Given the description of an element on the screen output the (x, y) to click on. 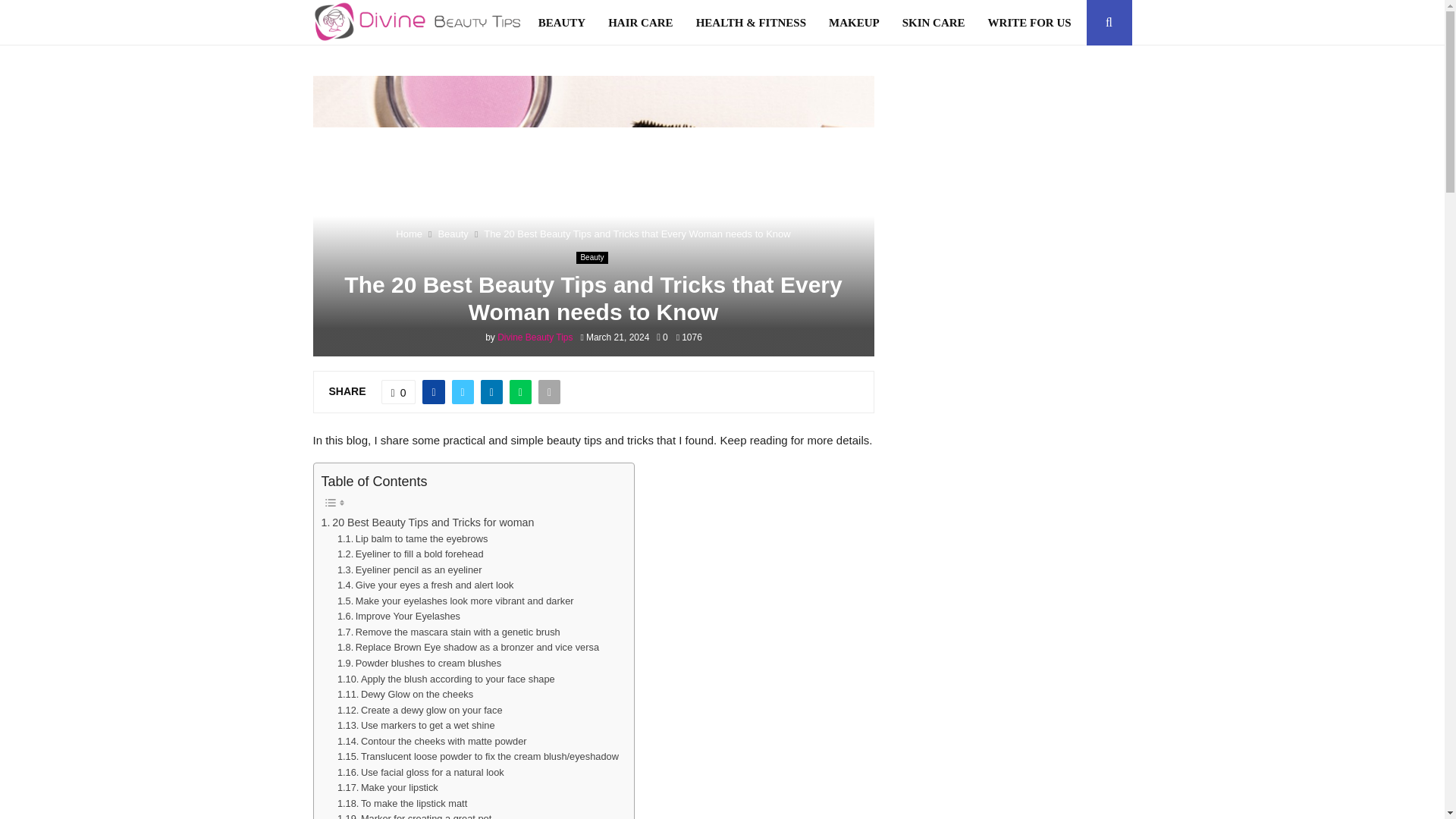
Powder blushes to cream blushes (418, 663)
Replace Brown Eye shadow as a bronzer and vice versa (467, 647)
Beauty (591, 257)
MAKEUP (853, 22)
20 Best Beauty Tips and Tricks for woman (427, 522)
Eyeliner to fill a bold forehead (410, 554)
Eyeliner to fill a bold forehead (410, 554)
Apply the blush according to your face shape (445, 679)
Divine Beauty Tips (534, 337)
Like (398, 392)
Contour the cheeks with matte powder (432, 741)
20 Best Beauty Tips and Tricks for woman (427, 522)
Create a dewy glow on your face (419, 710)
Home (409, 233)
